Given the description of an element on the screen output the (x, y) to click on. 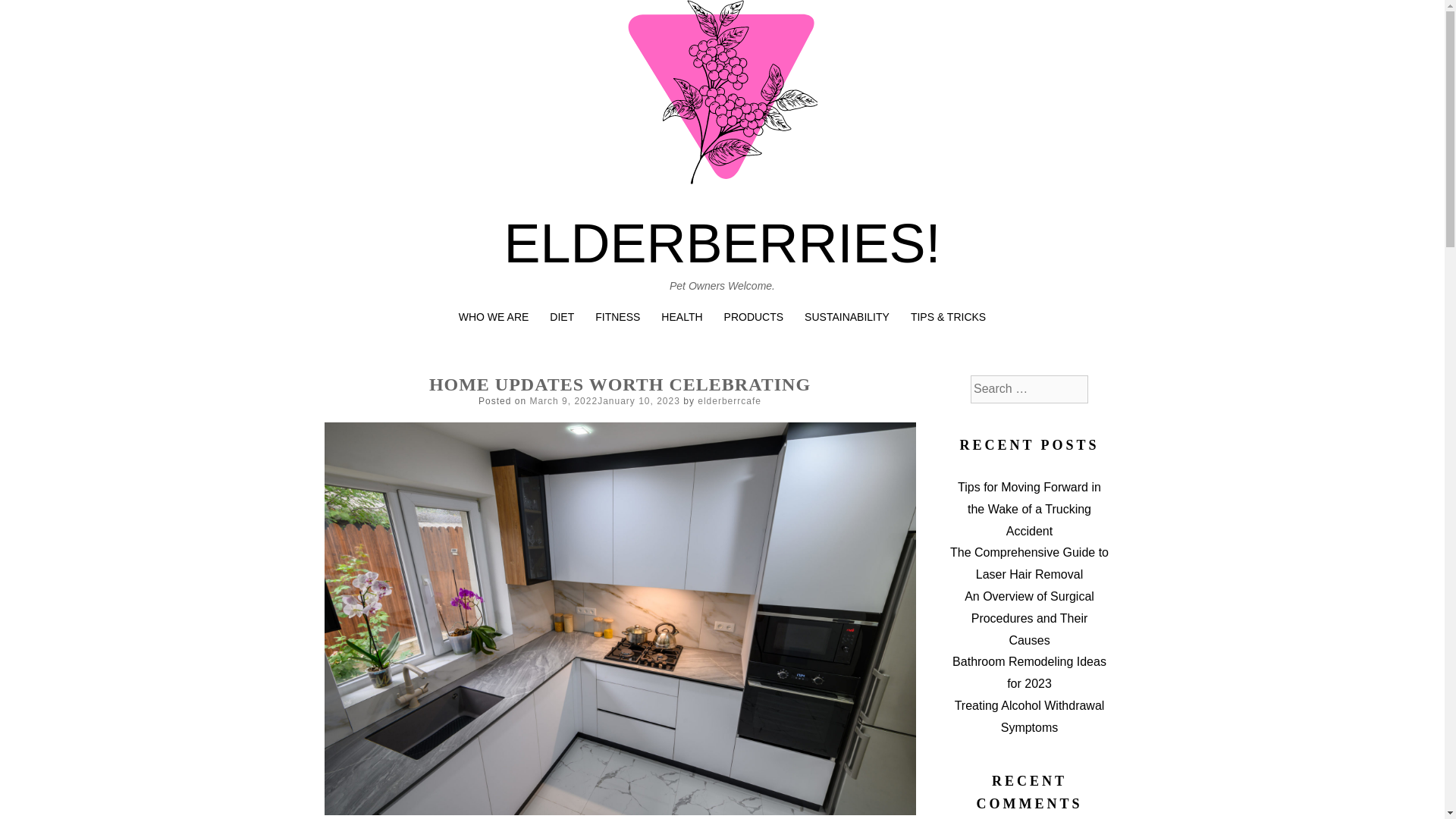
Treating Alcohol Withdrawal Symptoms (1030, 716)
FITNESS (617, 316)
ELDERBERRIES! (721, 242)
SUSTAINABILITY (847, 316)
An Overview of Surgical Procedures and Their Causes (1028, 618)
March 9, 2022January 10, 2023 (604, 400)
HEALTH (681, 316)
The Comprehensive Guide to Laser Hair Removal (1029, 563)
PRODUCTS (753, 316)
Tips for Moving Forward in the Wake of a Trucking Accident (1029, 508)
